Given the description of an element on the screen output the (x, y) to click on. 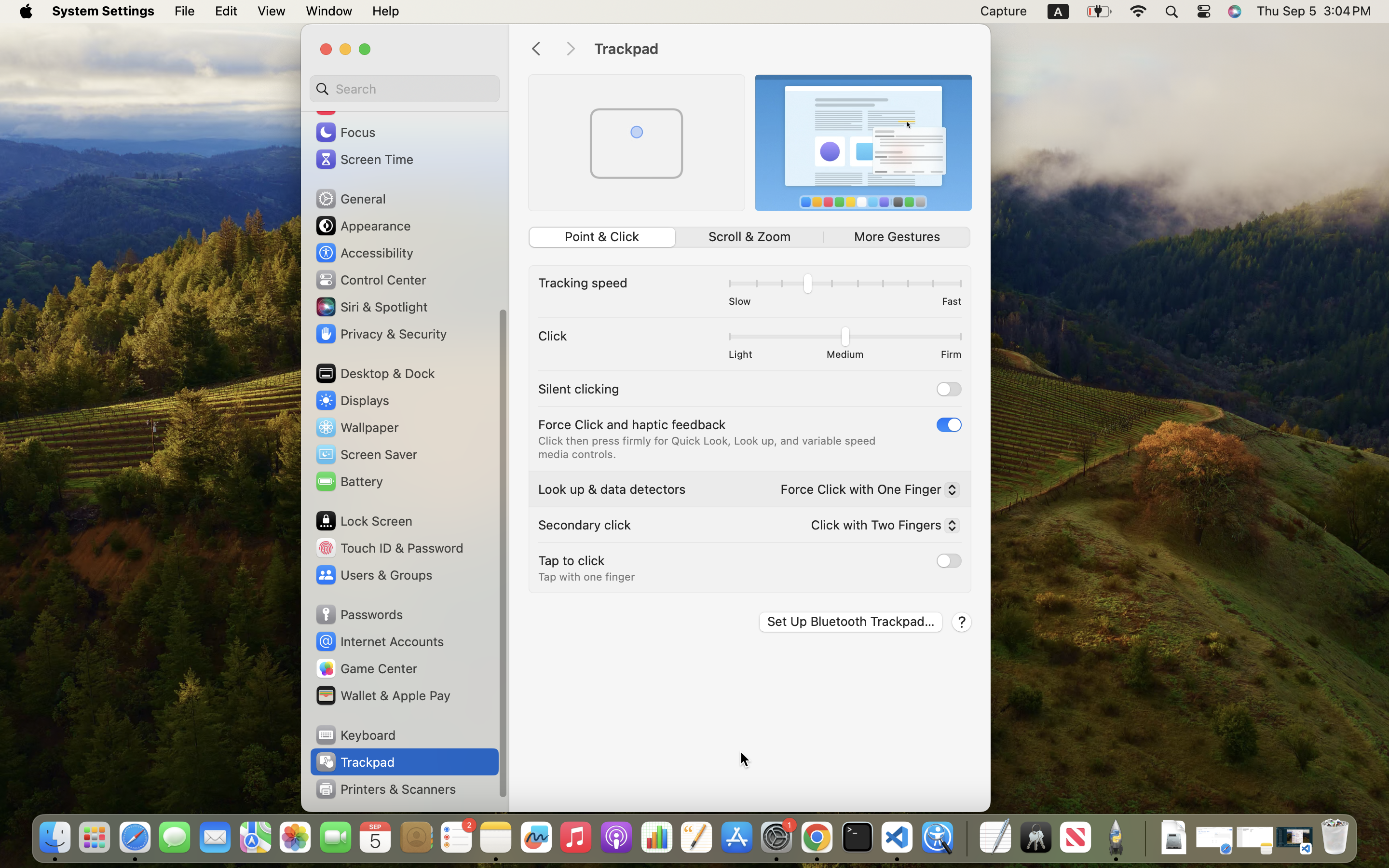
Wallpaper Element type: AXStaticText (356, 426)
Displays Element type: AXStaticText (351, 399)
Game Center Element type: AXStaticText (365, 667)
